Given the description of an element on the screen output the (x, y) to click on. 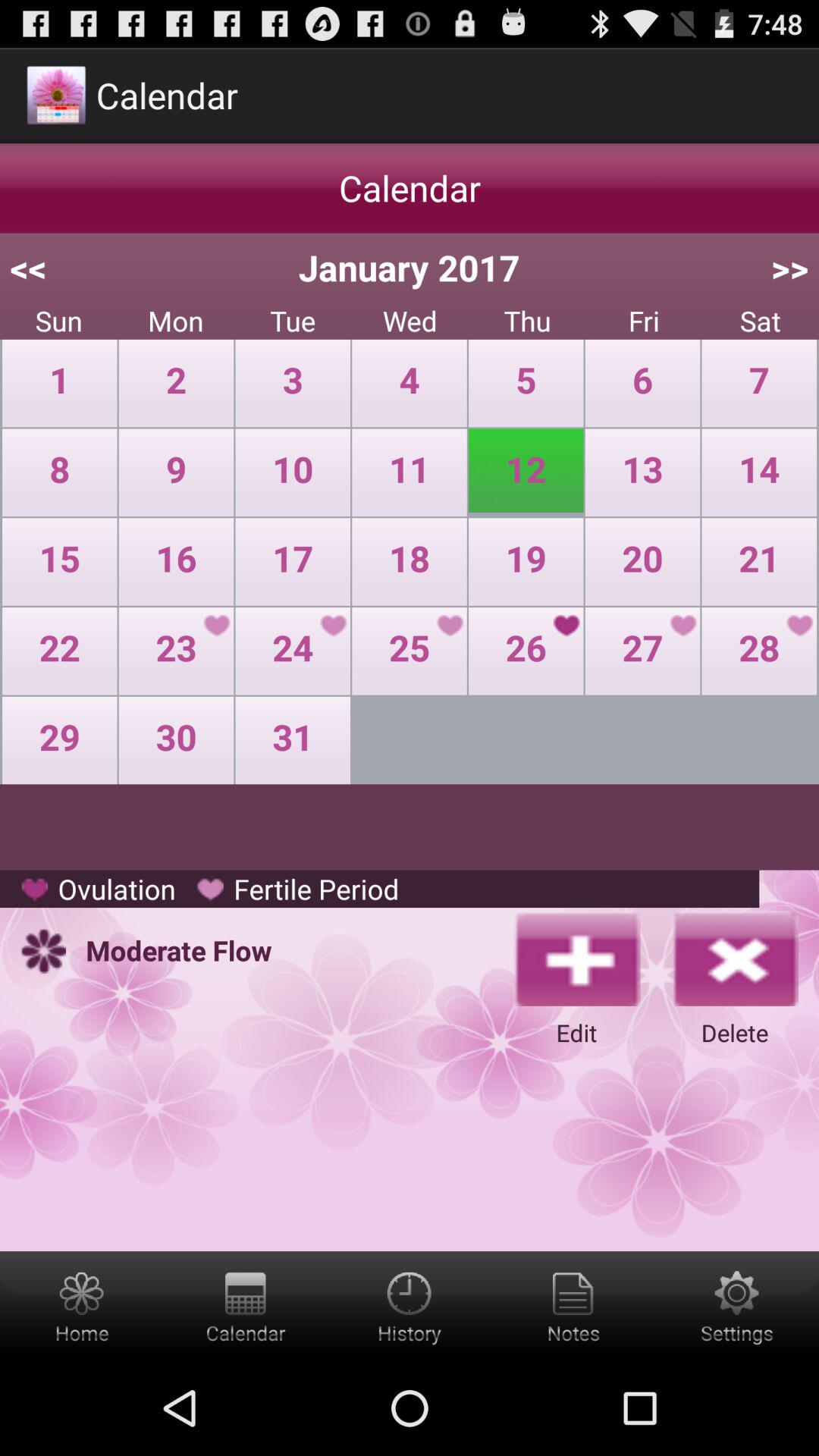
go to calender (245, 1305)
